Given the description of an element on the screen output the (x, y) to click on. 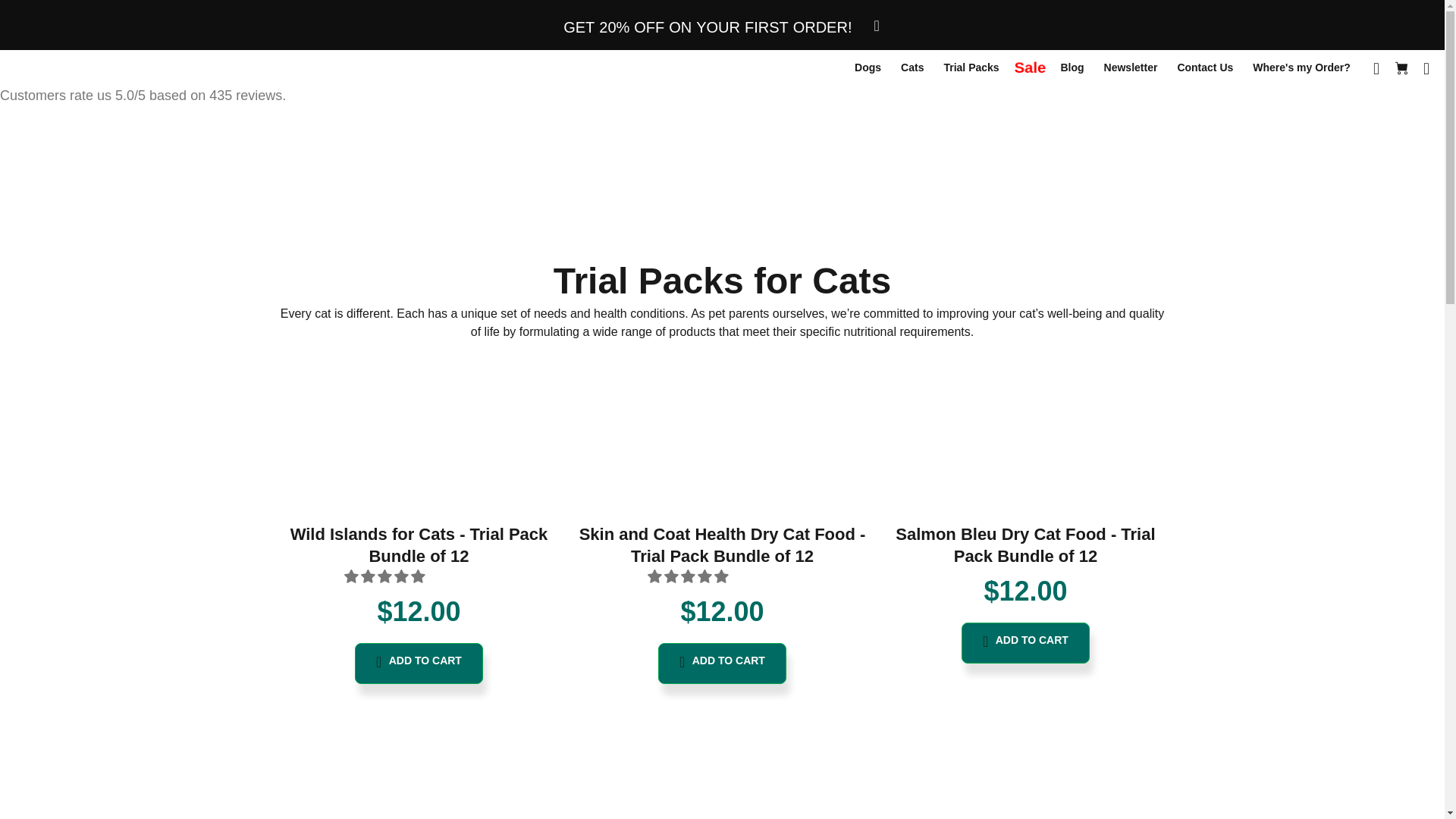
SHOW ALL (722, 281)
